Given the description of an element on the screen output the (x, y) to click on. 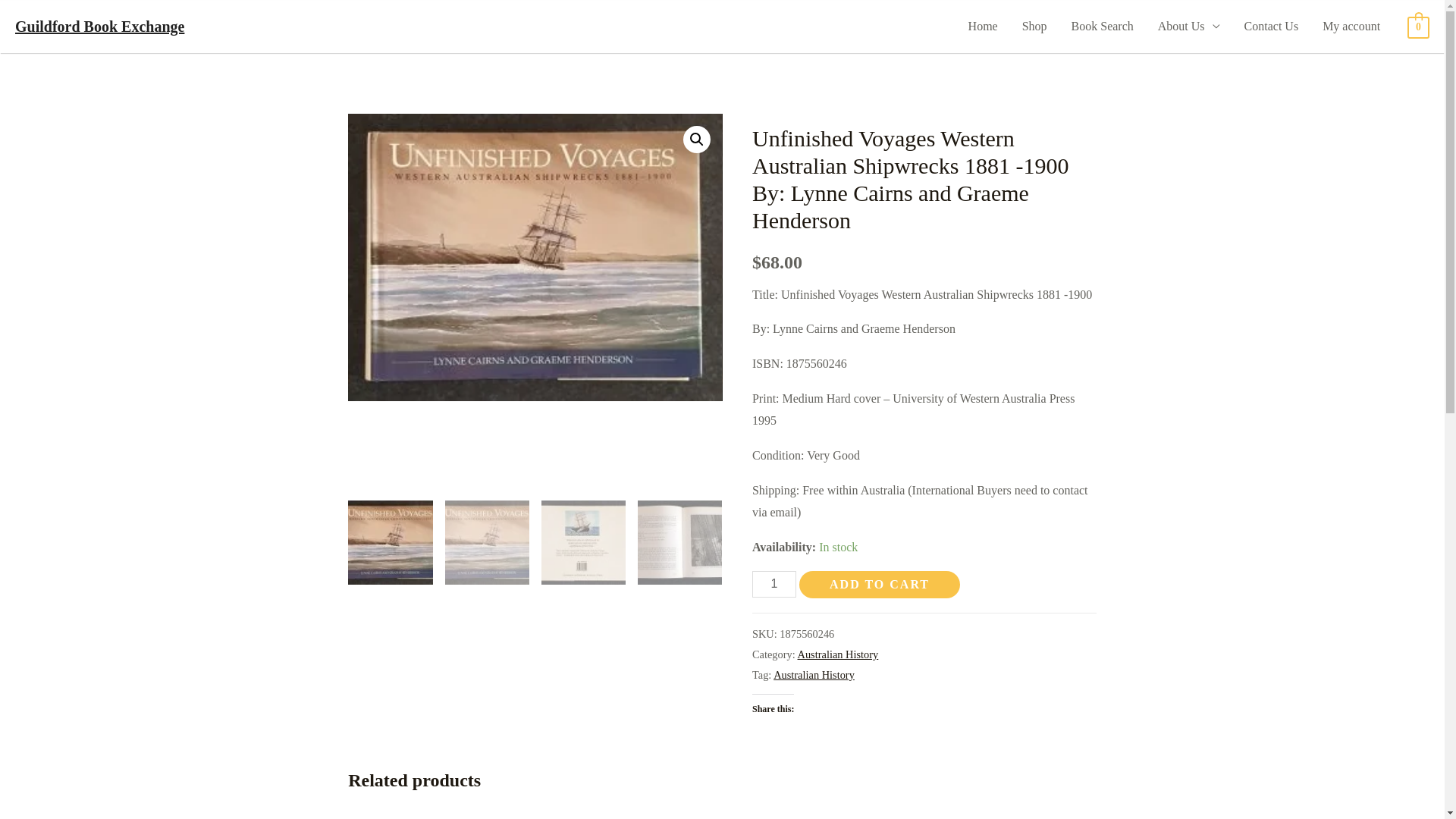
20210408_142538 Element type: hover (908, 256)
Contact Us Element type: text (1271, 26)
Australian History Element type: text (837, 654)
0 Element type: text (1418, 25)
About Us Element type: text (1188, 26)
Australian History Element type: text (813, 674)
Shop Element type: text (1034, 26)
Qty Element type: hover (774, 584)
My account Element type: text (1351, 26)
Book Search Element type: text (1102, 26)
ADD TO CART Element type: text (879, 584)
20210408_142538 Element type: hover (534, 256)
Home Element type: text (983, 26)
Guildford Book Exchange Element type: text (99, 26)
